Given the description of an element on the screen output the (x, y) to click on. 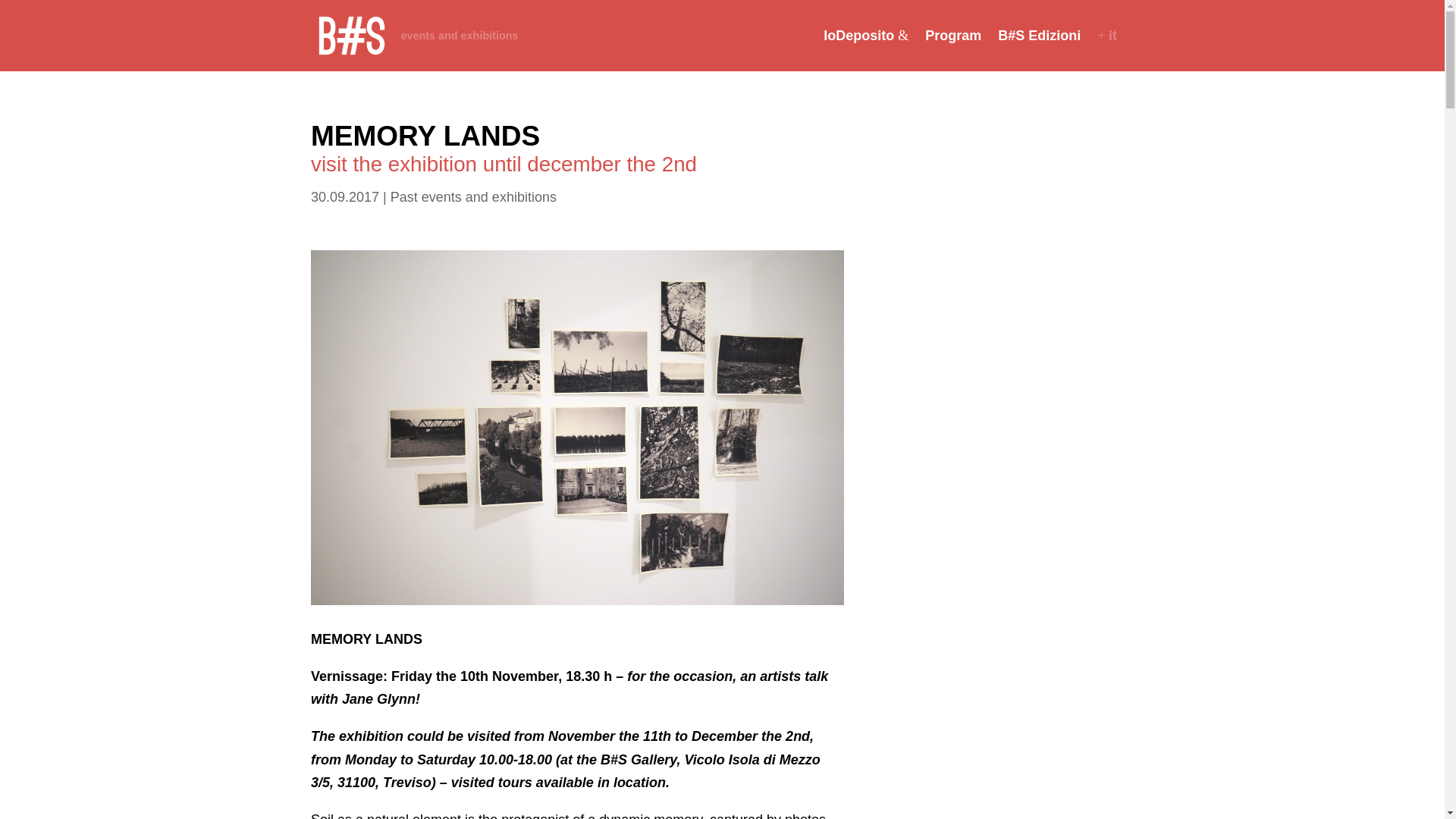
Program (952, 49)
IoDeposito (866, 49)
Past events and exhibitions (473, 196)
